Given the description of an element on the screen output the (x, y) to click on. 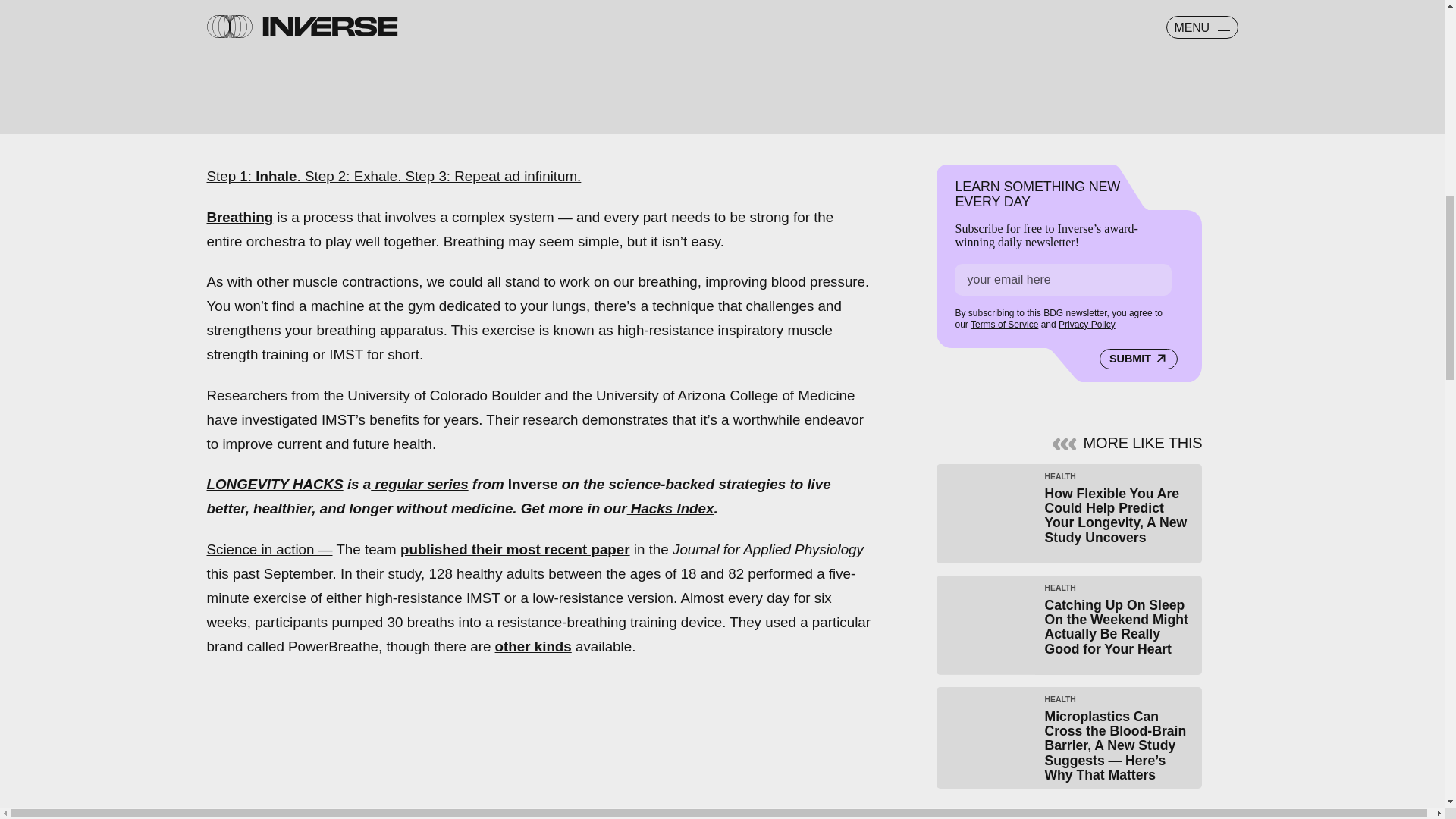
Inhale (276, 176)
regular series (419, 483)
LONGEVITY HACKS (274, 483)
Privacy Policy (1086, 324)
published their most recent paper (515, 549)
Breathing (239, 217)
Terms of Service (1004, 324)
SUBMIT (1138, 359)
